Given the description of an element on the screen output the (x, y) to click on. 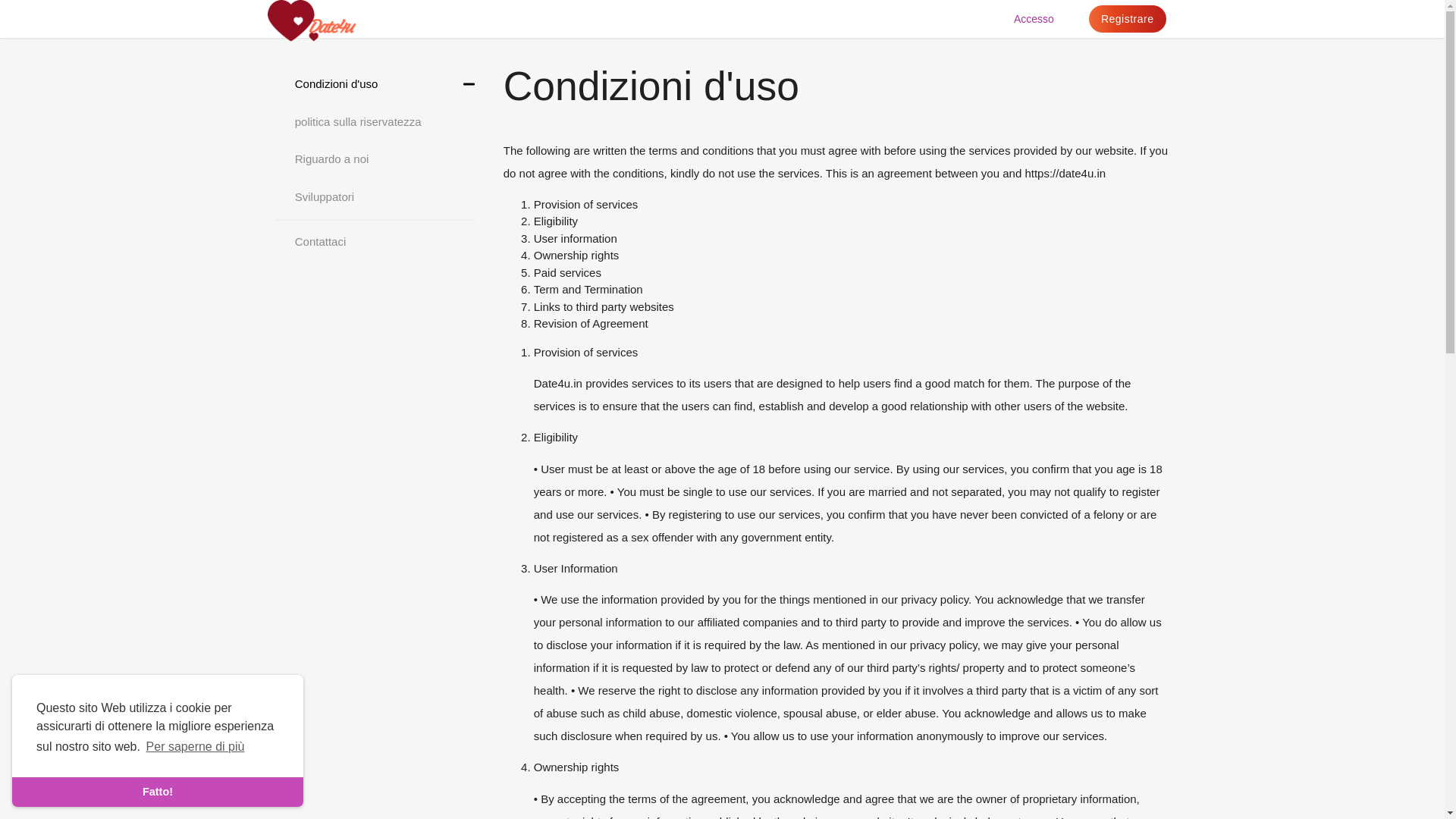
Fatto! (156, 791)
politica sulla riservatezza (376, 122)
Registrare (1127, 18)
Riguardo a noi (376, 159)
Contattaci (376, 242)
Sviluppatori (376, 196)
Condizioni d'uso (376, 83)
Accesso (1033, 18)
